Given the description of an element on the screen output the (x, y) to click on. 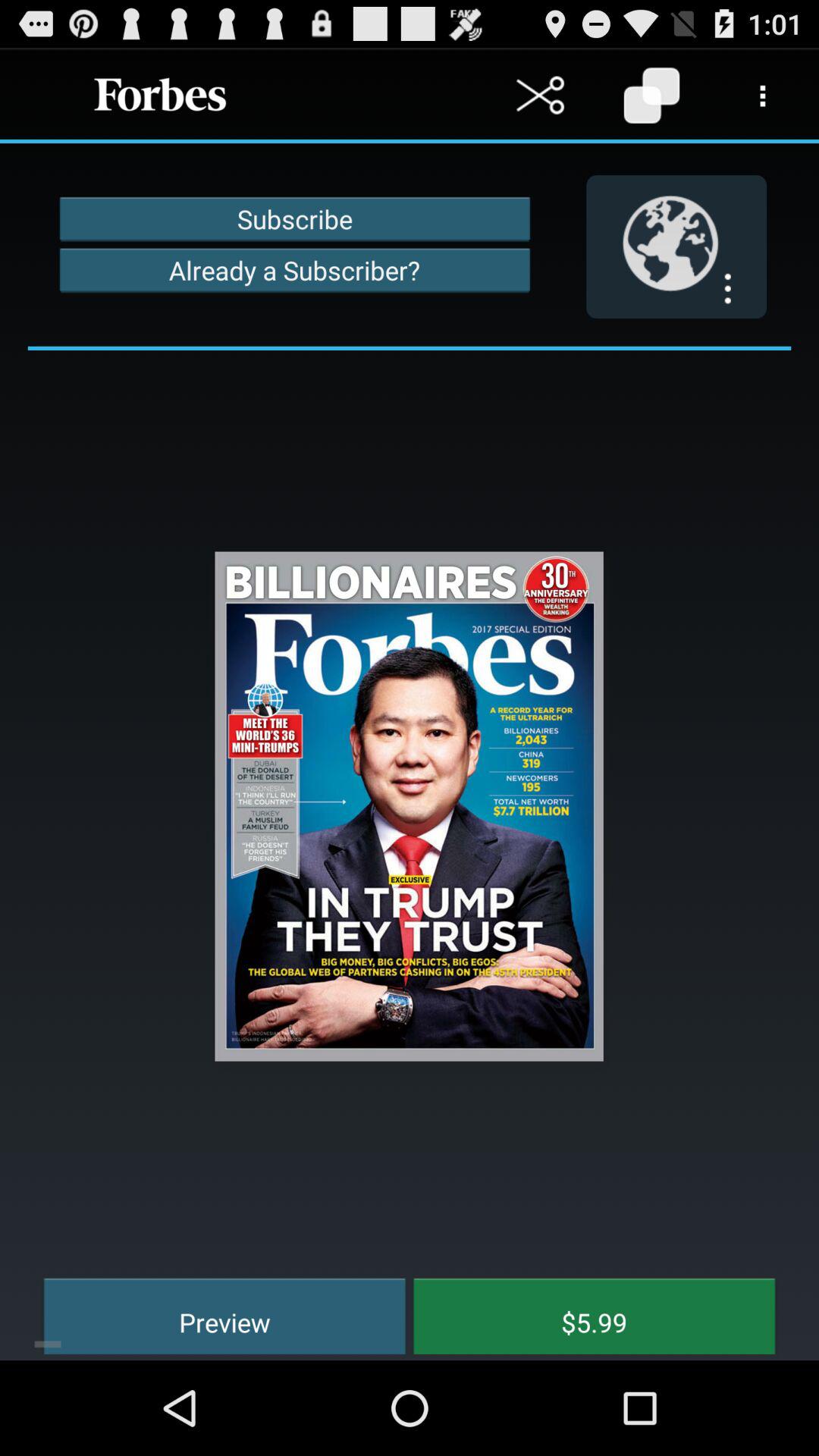
turn off subscribe (294, 218)
